Given the description of an element on the screen output the (x, y) to click on. 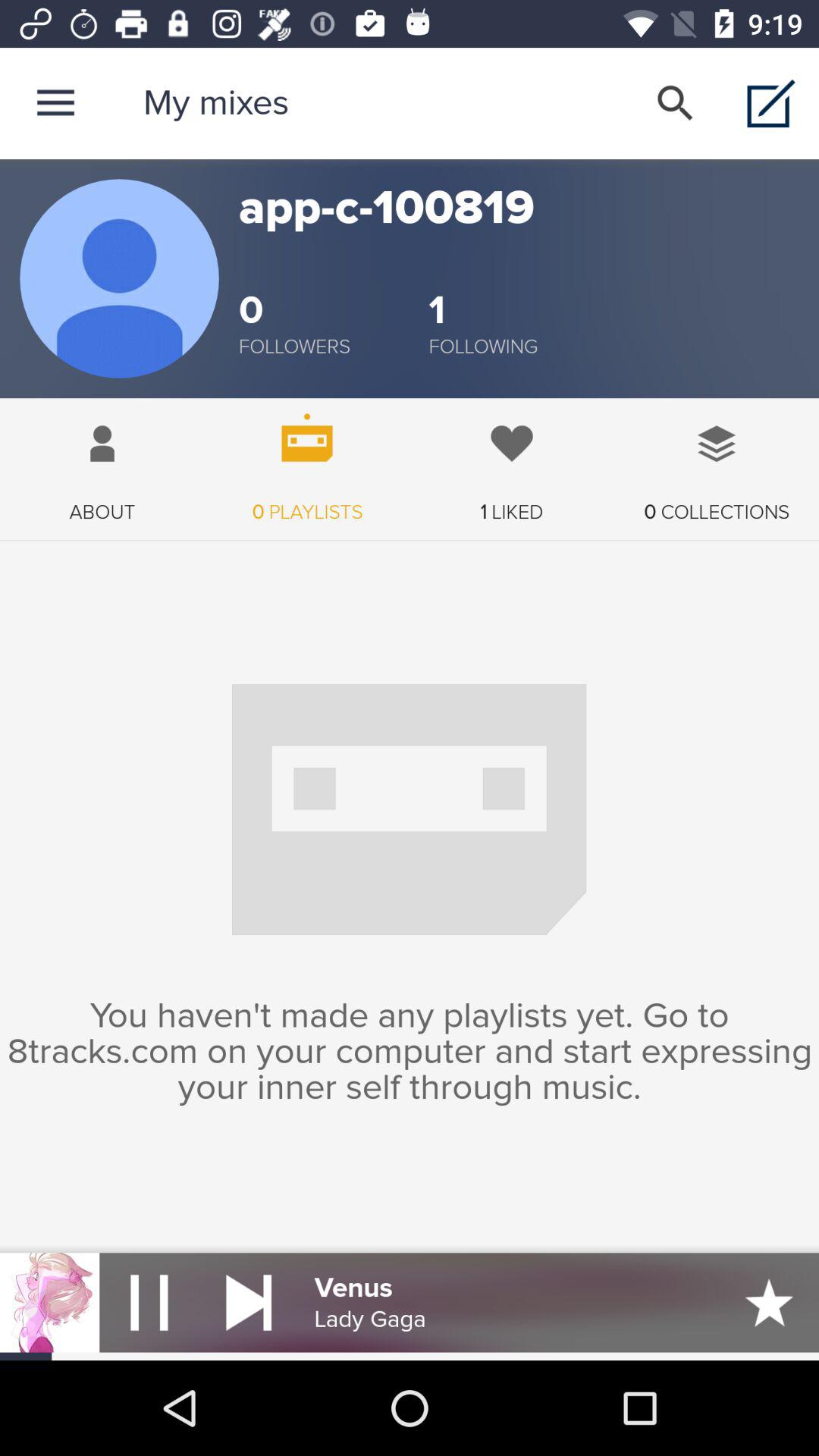
jump to the about (102, 461)
